Given the description of an element on the screen output the (x, y) to click on. 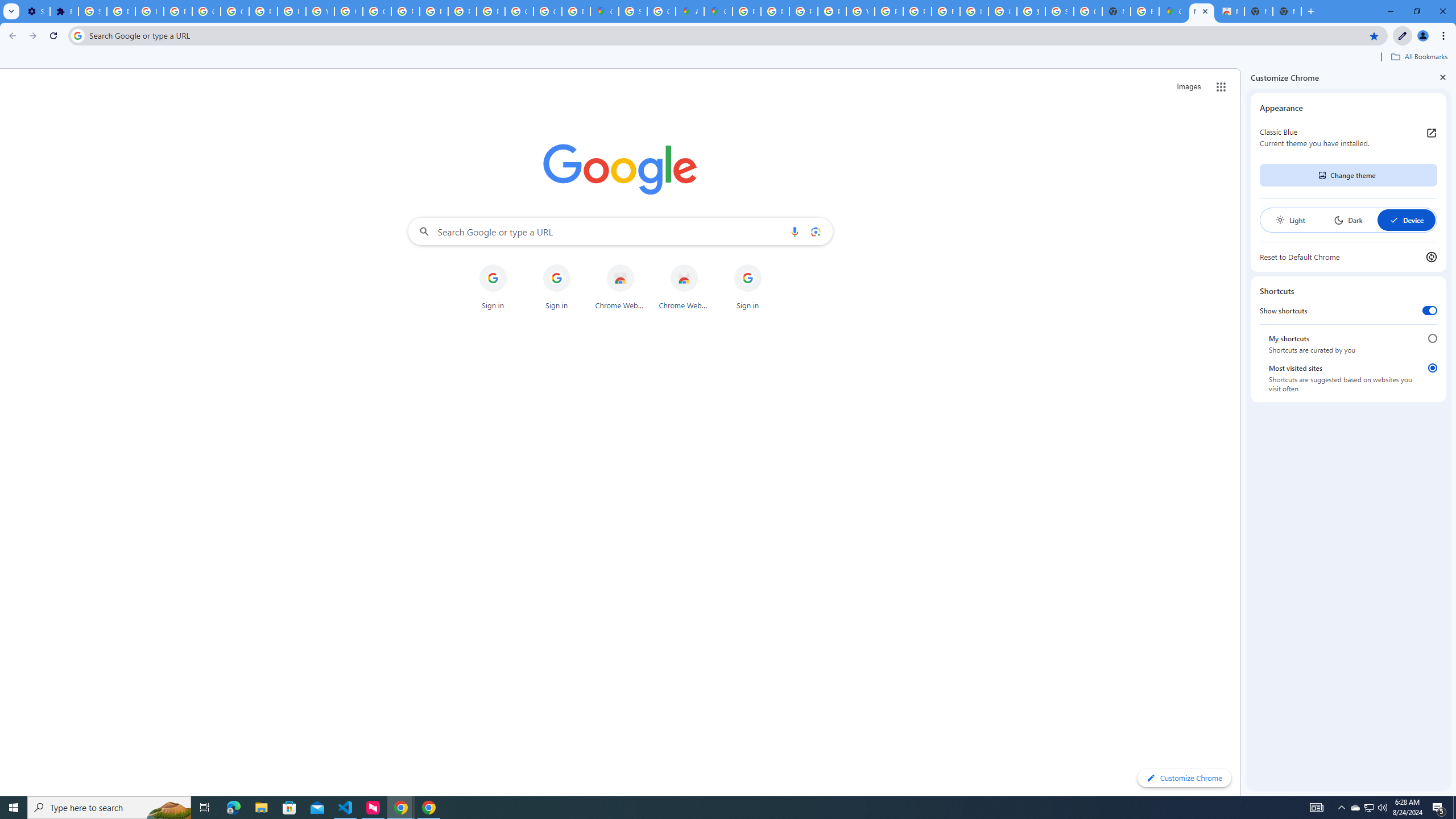
Settings - On startup (35, 11)
Google Maps (1173, 11)
Chrome Web Store (684, 287)
Reset to Default Chrome (1347, 256)
Privacy Help Center - Policies Help (405, 11)
